Given the description of an element on the screen output the (x, y) to click on. 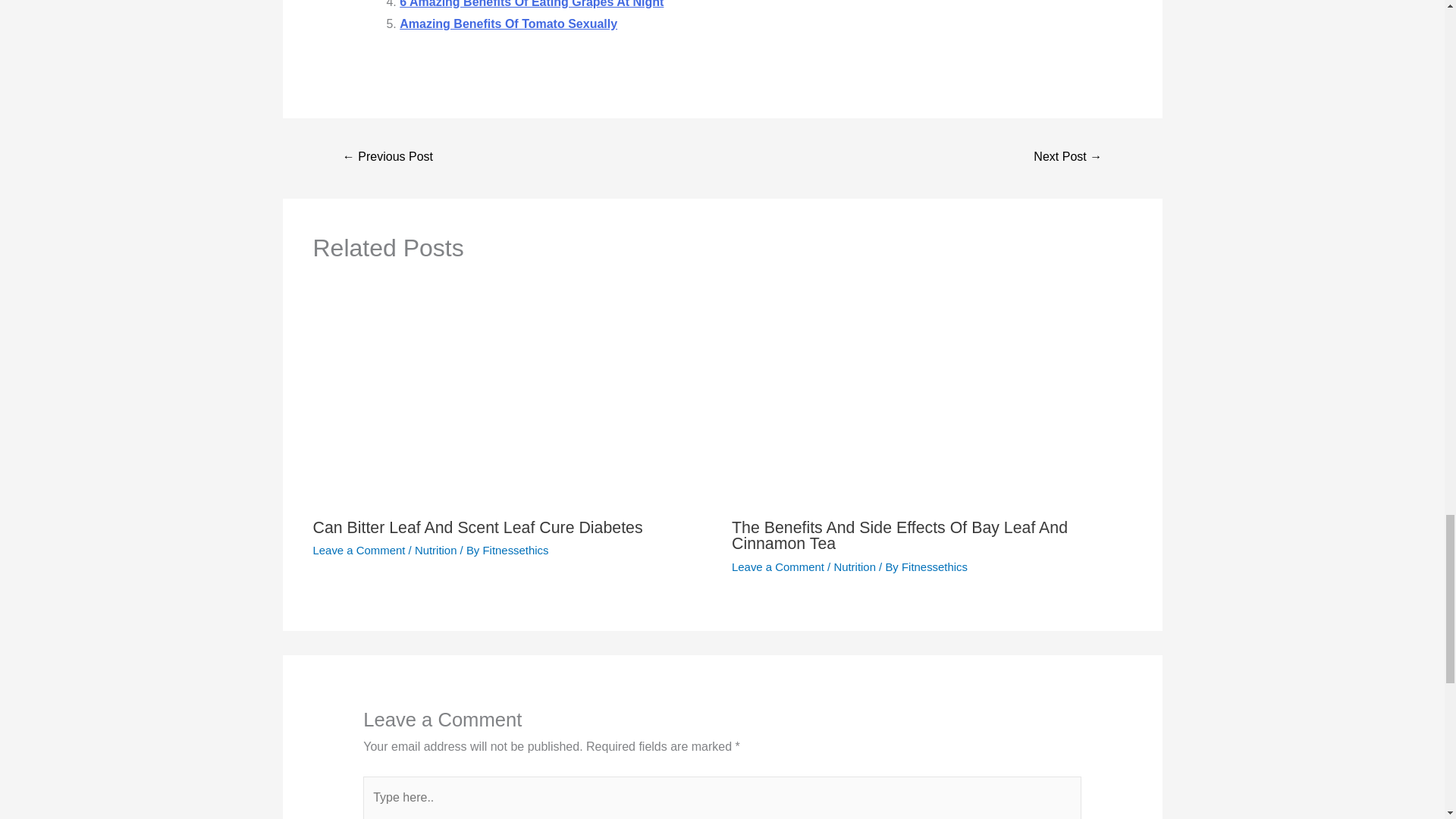
Can Bitter Leaf And Scent Leaf Cure Diabetes (477, 527)
View all posts by Fitnessethics (934, 566)
Does Mountain Dew Make Your Pee-Pee Smaller? (1066, 157)
6 Amazing Benefits Of Eating Grapes At Night (530, 4)
Does Testosterone Make Your Taller? (387, 157)
Nutrition (435, 549)
Amazing Benefits Of Tomato Sexually (507, 23)
View all posts by Fitnessethics (514, 549)
Leave a Comment (358, 549)
6 Amazing Benefits Of Eating Grapes At Night (530, 4)
Fitnessethics (514, 549)
Amazing Benefits Of Tomato Sexually (507, 23)
